Given the description of an element on the screen output the (x, y) to click on. 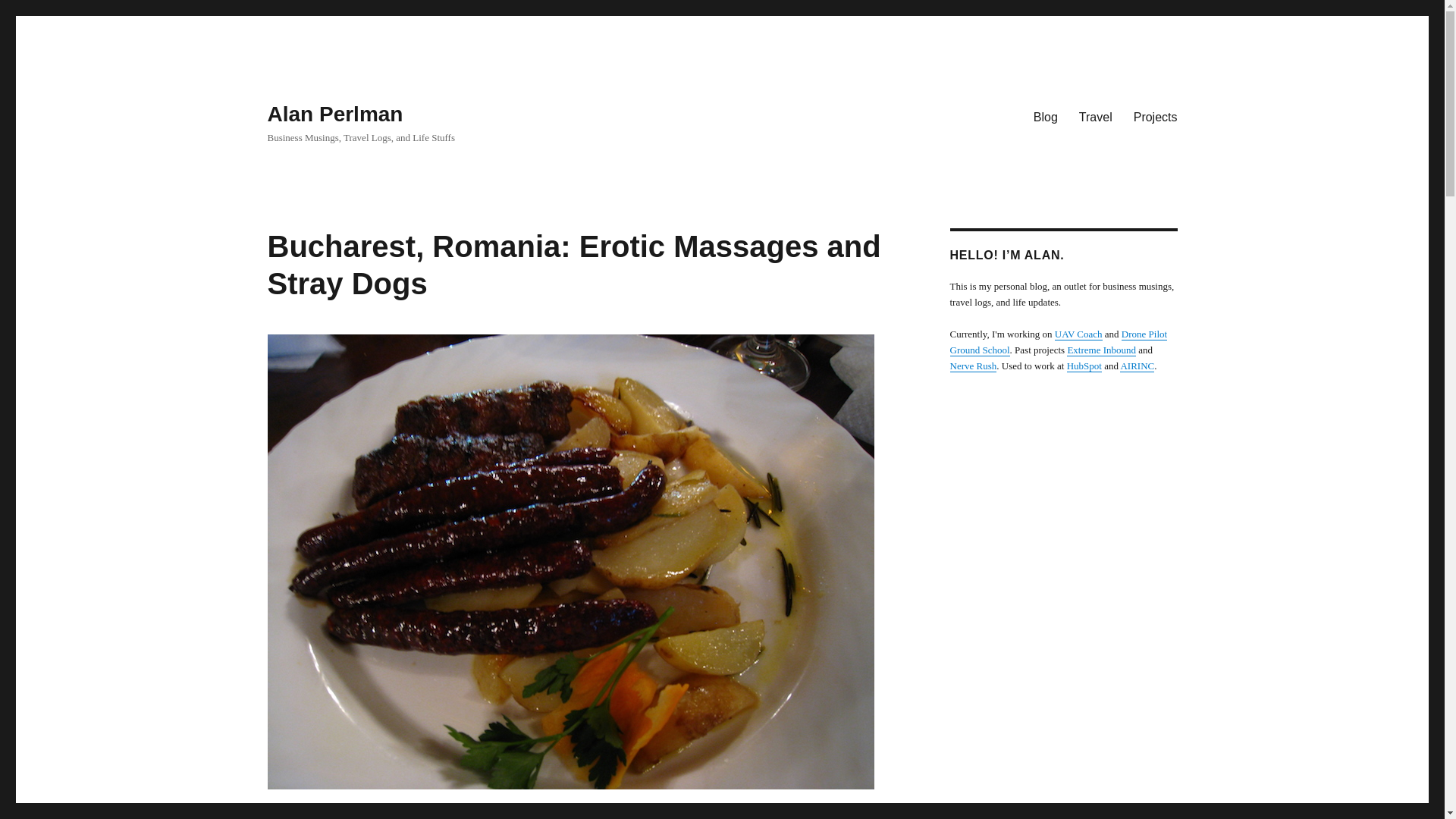
Alan Perlman (334, 114)
Projects (1155, 116)
Blog (1045, 116)
Travel (1095, 116)
